Given the description of an element on the screen output the (x, y) to click on. 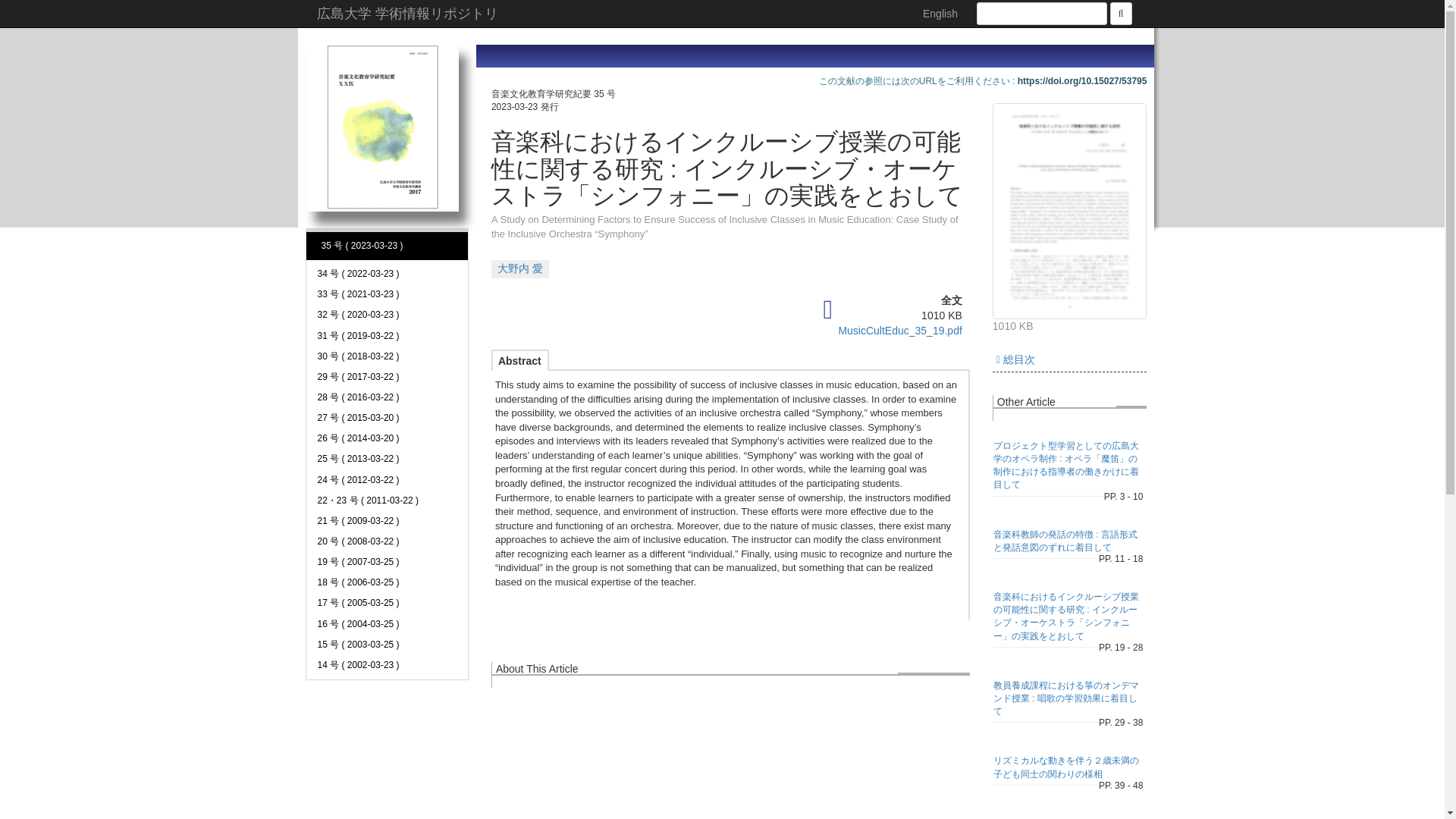
English (940, 13)
